Given the description of an element on the screen output the (x, y) to click on. 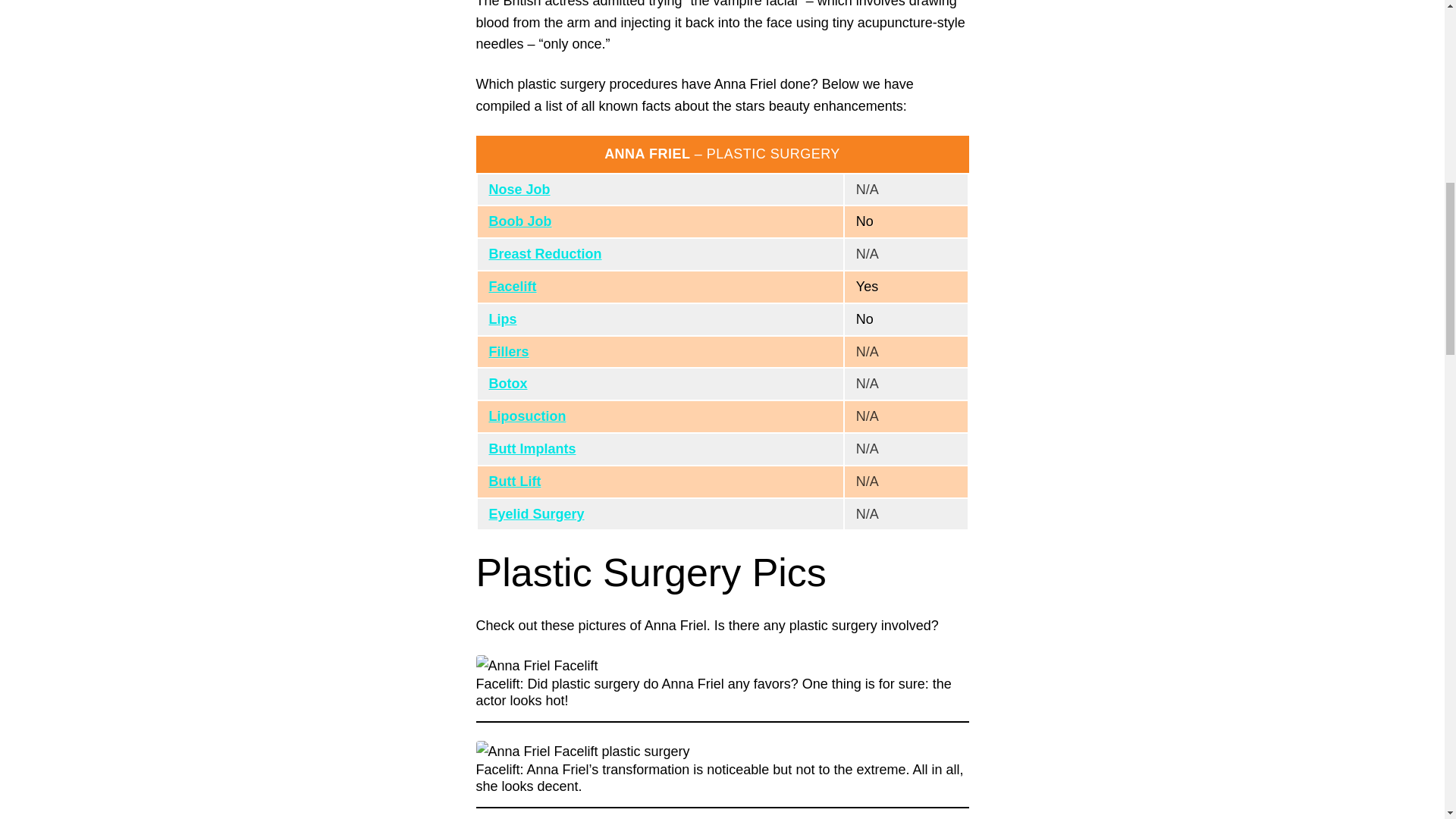
Facelift (511, 286)
Eyelid Surgery (535, 513)
Butt Lift (513, 481)
Liposuction (526, 416)
Nose Job (518, 189)
Boob Job (519, 221)
Fillers (507, 351)
Botox (507, 383)
Breast Reduction (544, 253)
Lips (501, 319)
